Given the description of an element on the screen output the (x, y) to click on. 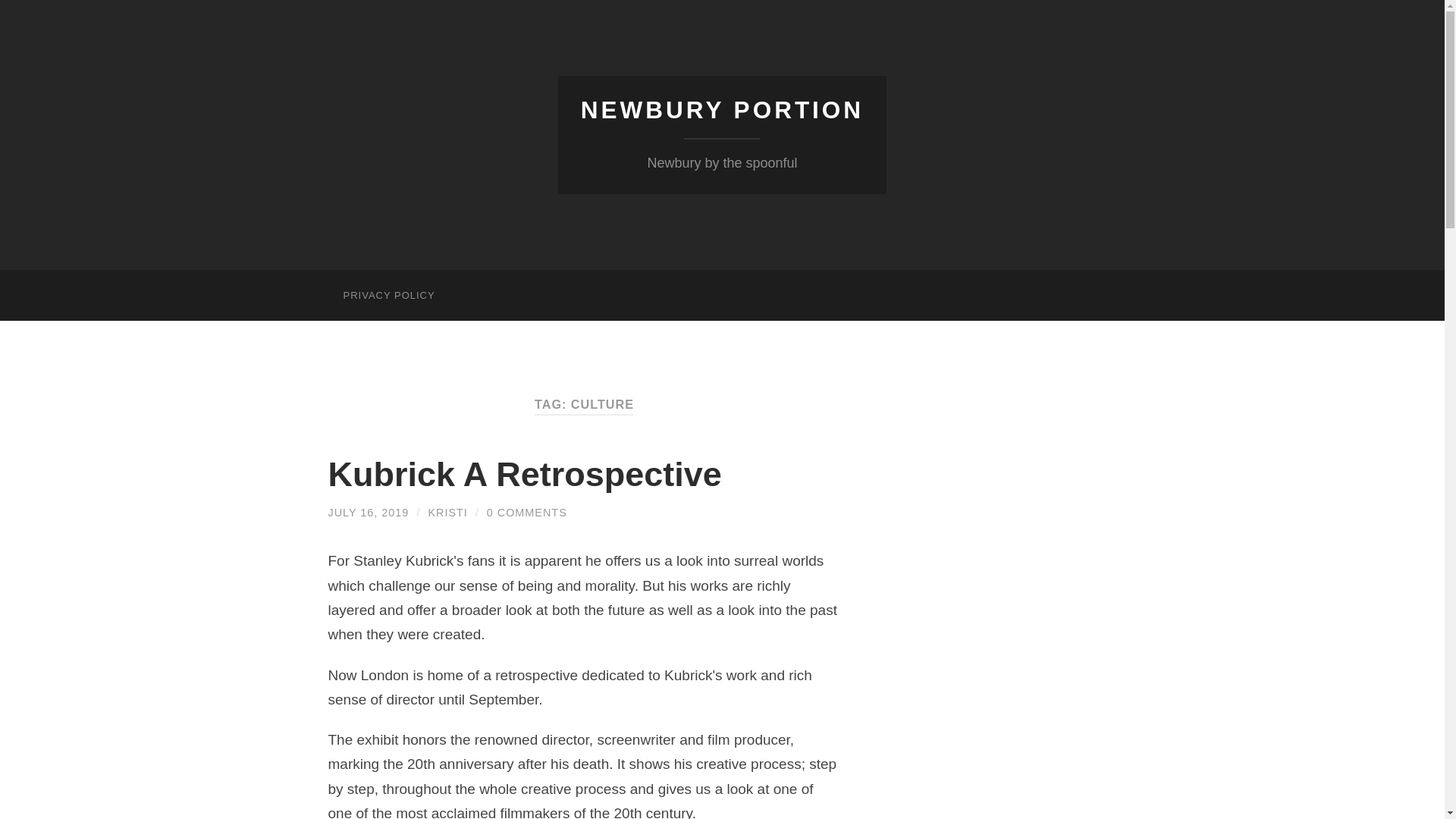
Kubrick A Retrospective (523, 474)
0 COMMENTS (526, 512)
KRISTI (447, 512)
Posts by Kristi (447, 512)
NEWBURY PORTION (721, 109)
JULY 16, 2019 (368, 512)
PRIVACY POLICY (388, 295)
